Given the description of an element on the screen output the (x, y) to click on. 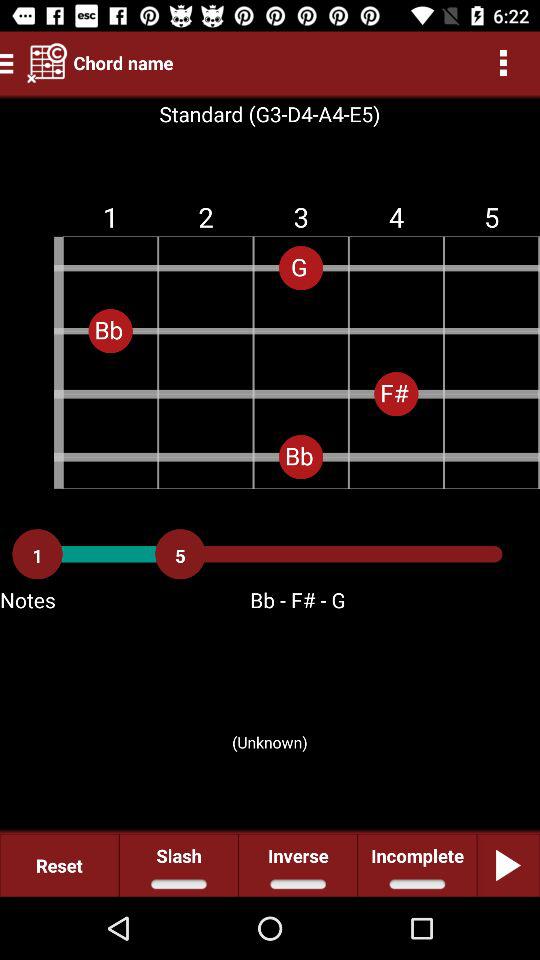
launch the inverse (297, 864)
